Given the description of an element on the screen output the (x, y) to click on. 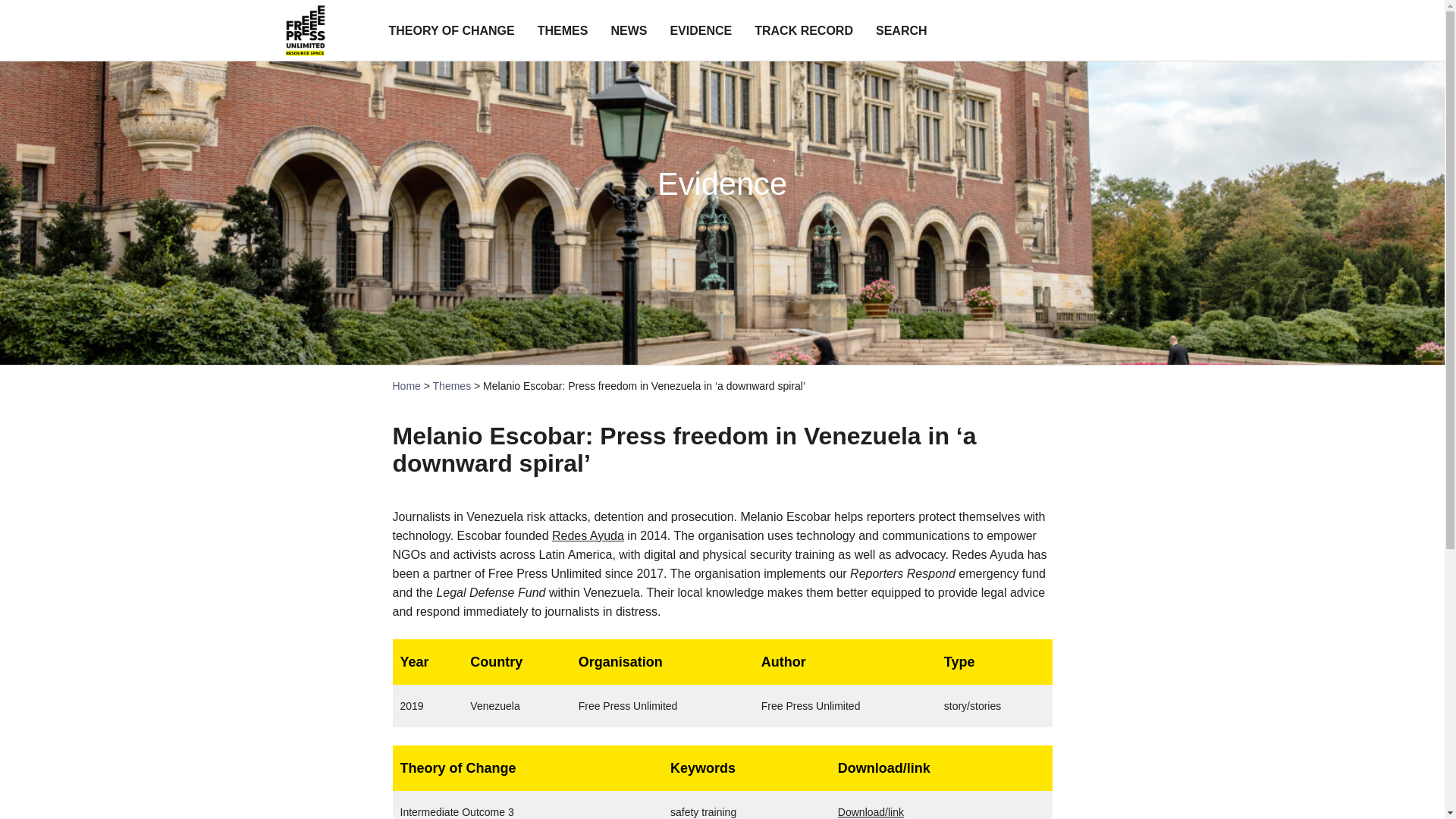
Home (406, 386)
TRACK RECORD (803, 30)
Redes Ayuda (587, 535)
SEARCH (901, 30)
THEMES (562, 30)
EVIDENCE (700, 30)
Go to Home. (406, 386)
THEORY OF CHANGE (450, 30)
Themes (451, 386)
NEWS (628, 30)
